Given the description of an element on the screen output the (x, y) to click on. 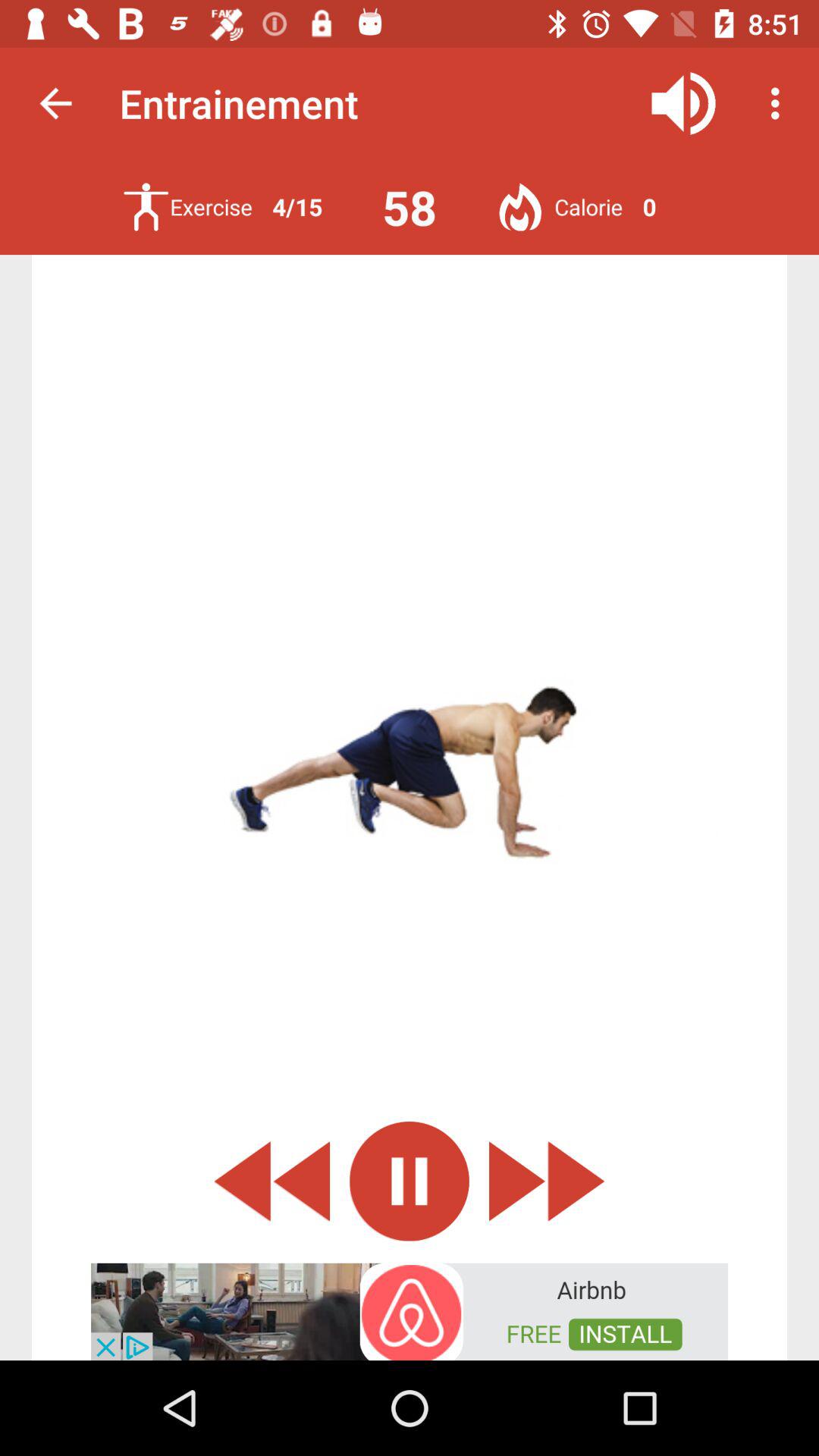
skip ahead (546, 1181)
